Given the description of an element on the screen output the (x, y) to click on. 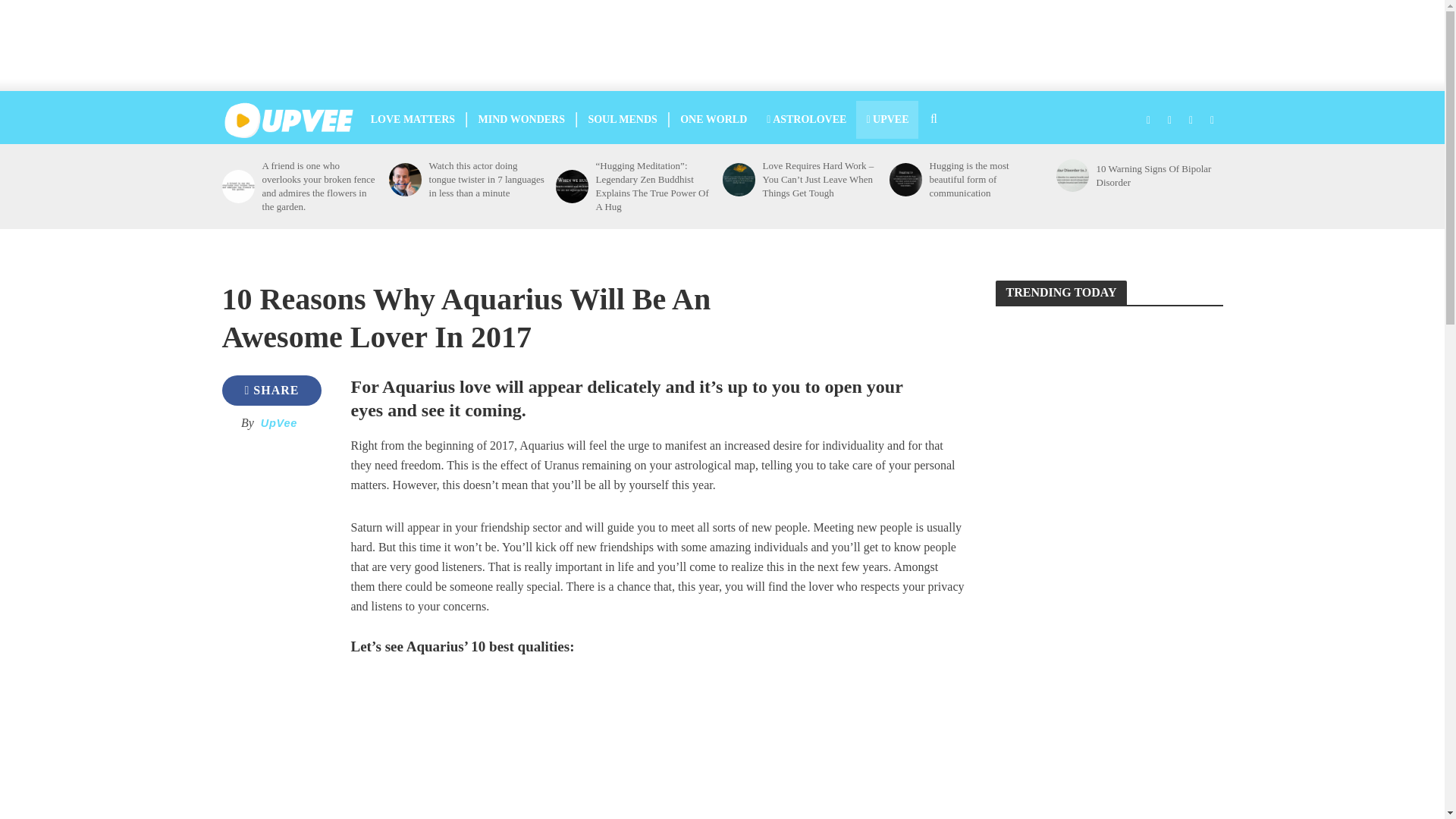
UPVEE (887, 119)
Advertisement (272, 631)
Hugging is the most beautiful form of communication (904, 178)
ONE WORLD (713, 119)
MIND WONDERS (521, 119)
10 Warning Signs Of Bipolar Disorder (1071, 174)
LOVE MATTERS (412, 119)
Author Name (278, 422)
Hugging is the most beautiful form of communication (988, 178)
10 Warning Signs Of Bipolar Disorder (1154, 175)
Advertisement (737, 45)
SOUL MENDS (622, 119)
